Given the description of an element on the screen output the (x, y) to click on. 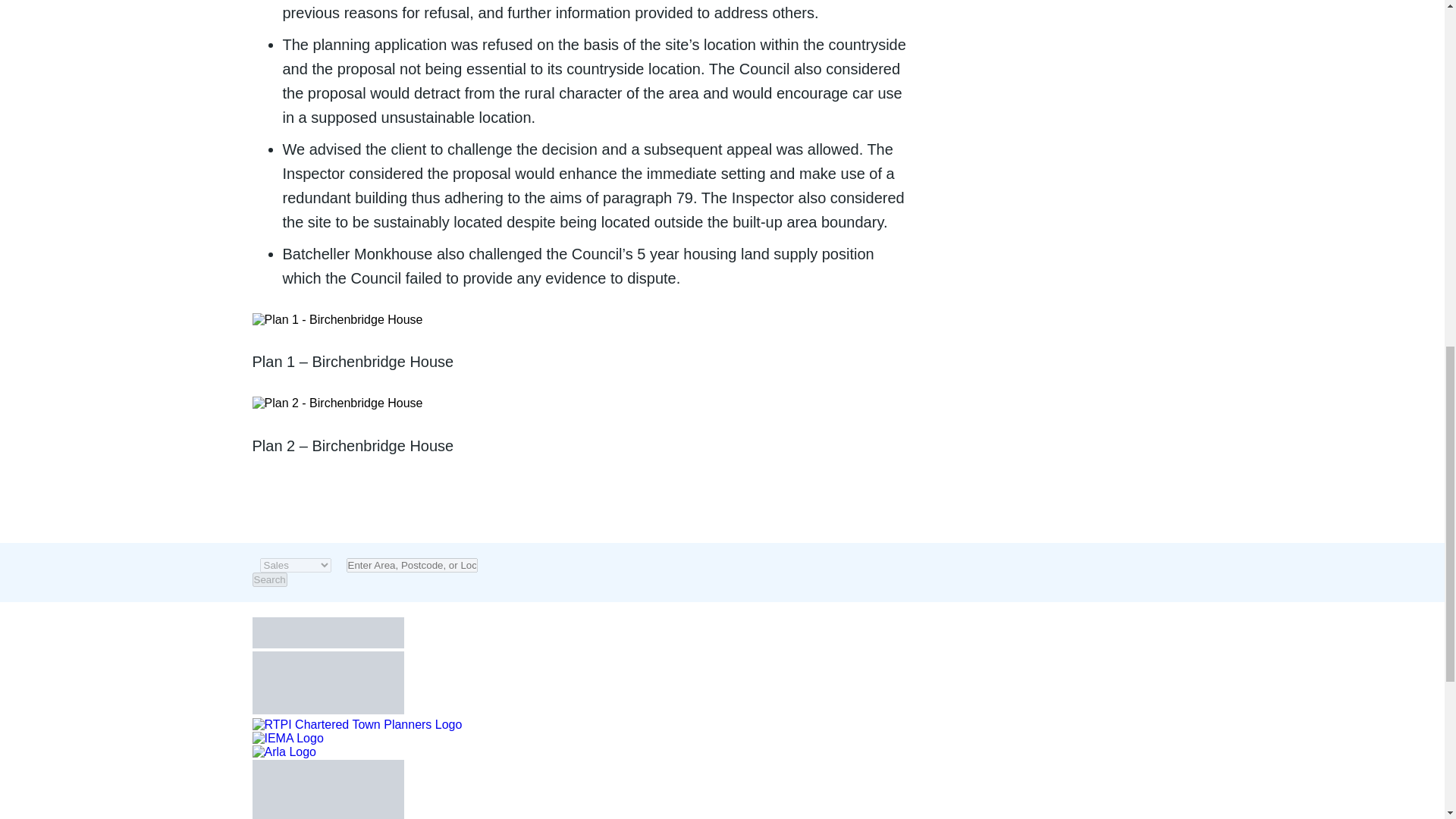
Search (268, 579)
